Given the description of an element on the screen output the (x, y) to click on. 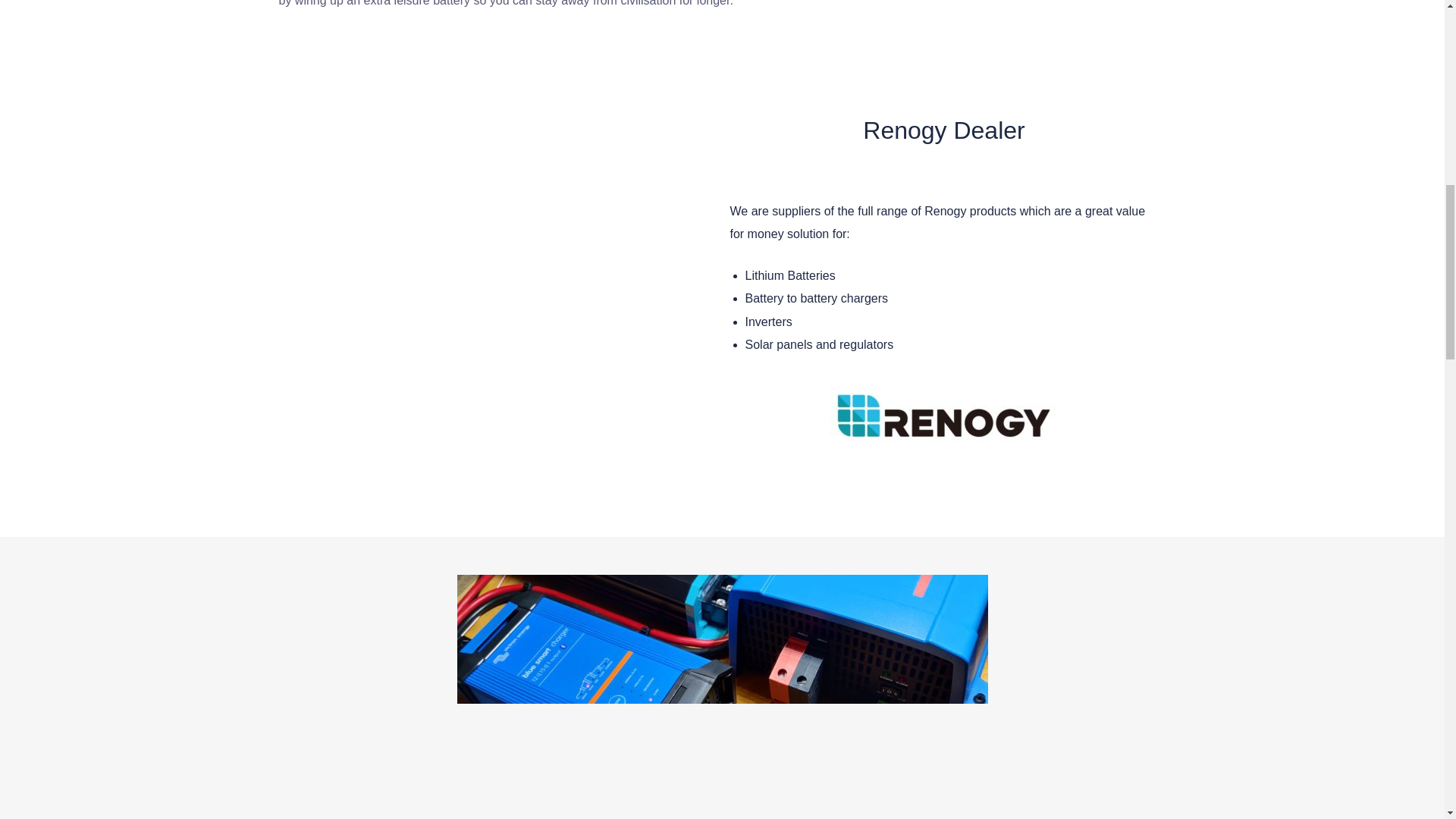
Camper electrics (722, 638)
